Given the description of an element on the screen output the (x, y) to click on. 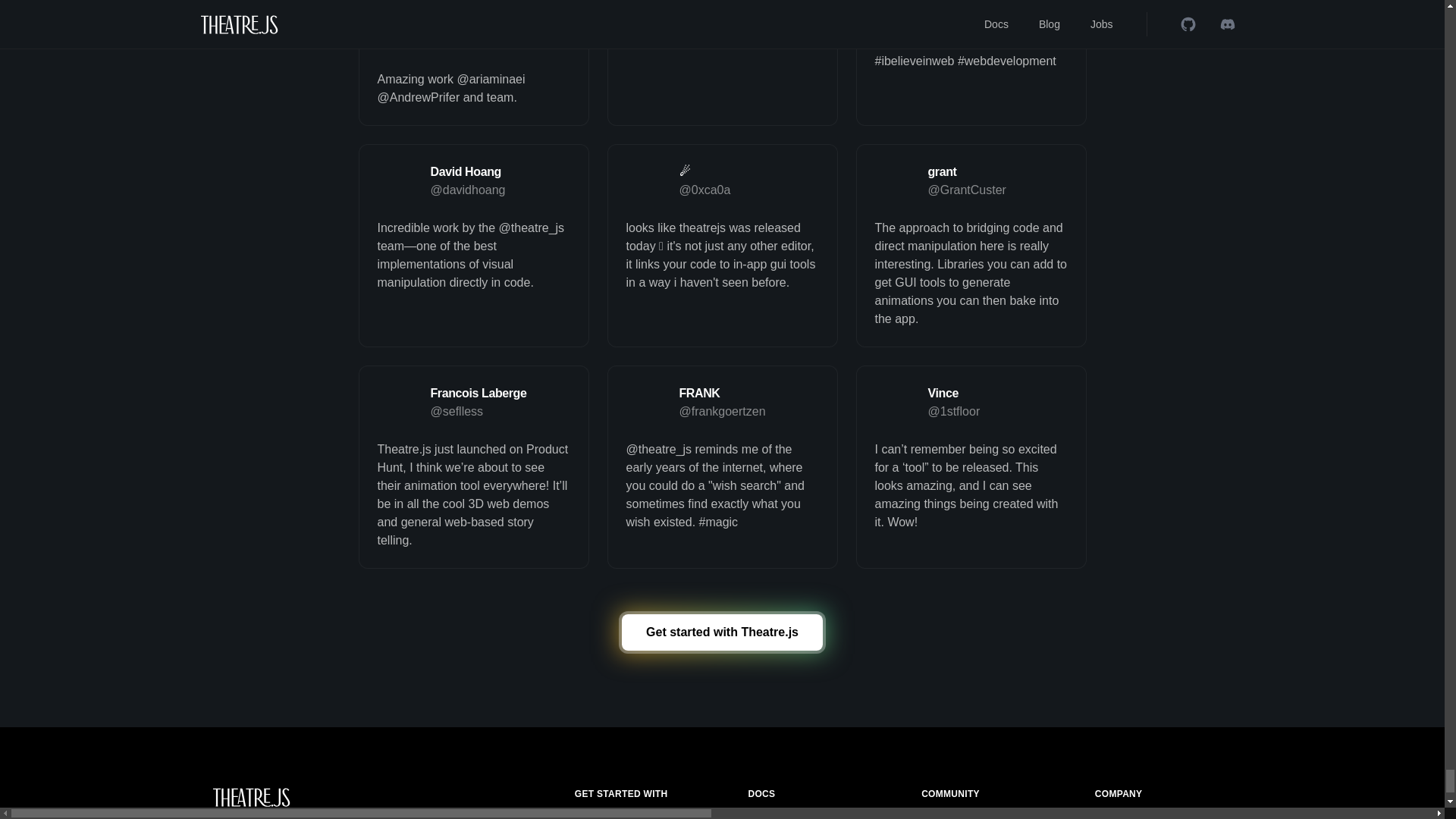
Jobs (1106, 815)
Twitter (936, 815)
Theatre.js (321, 796)
Overview (770, 815)
Get started with Theatre.js (721, 631)
React Three Fiber (618, 815)
